Given the description of an element on the screen output the (x, y) to click on. 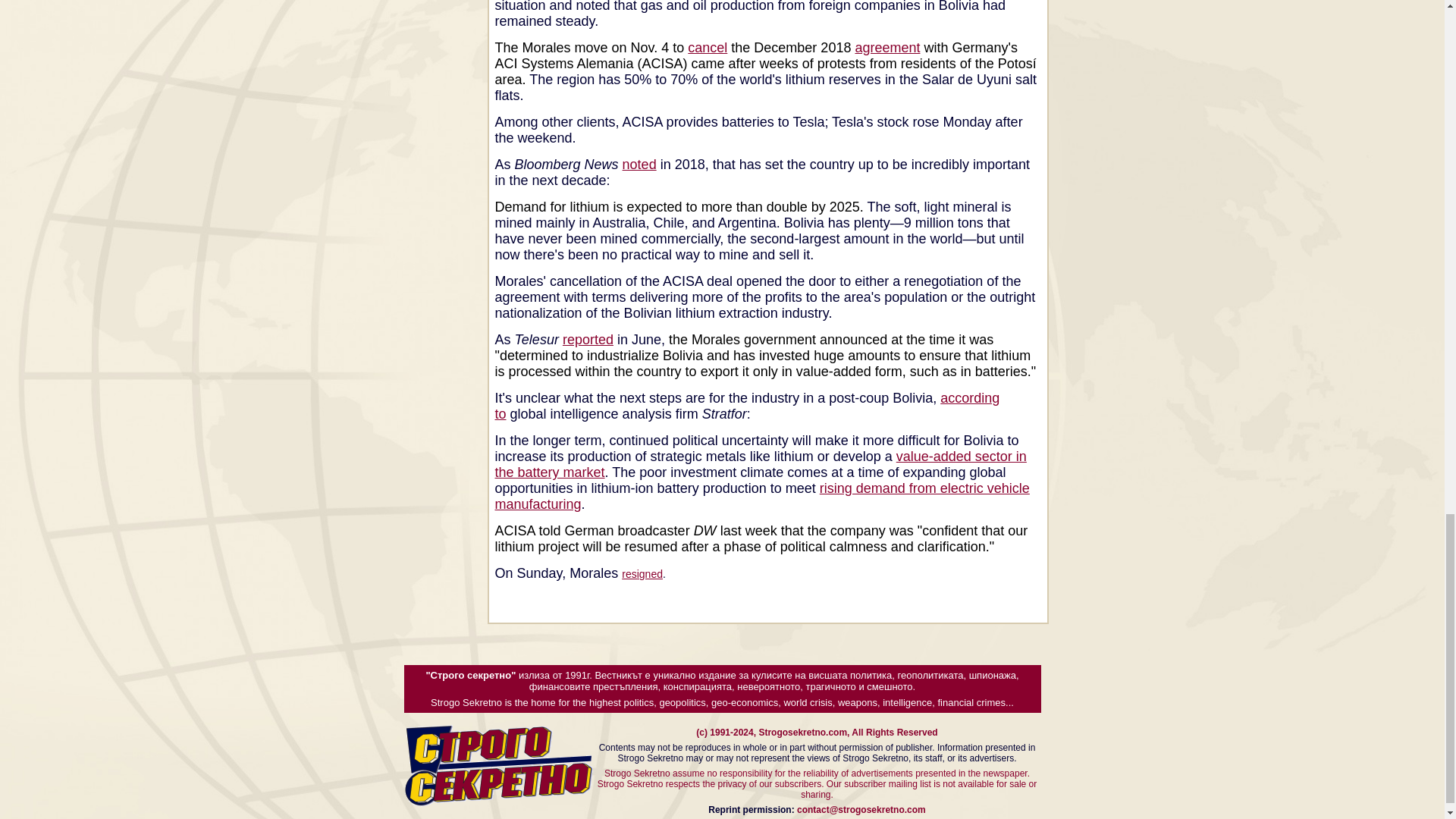
reported (587, 339)
according to (746, 405)
agreement (887, 47)
value-added sector in the battery market (760, 463)
noted (639, 164)
resigned (641, 573)
cancel (706, 47)
rising demand from electric vehicle manufacturing (762, 495)
